Given the description of an element on the screen output the (x, y) to click on. 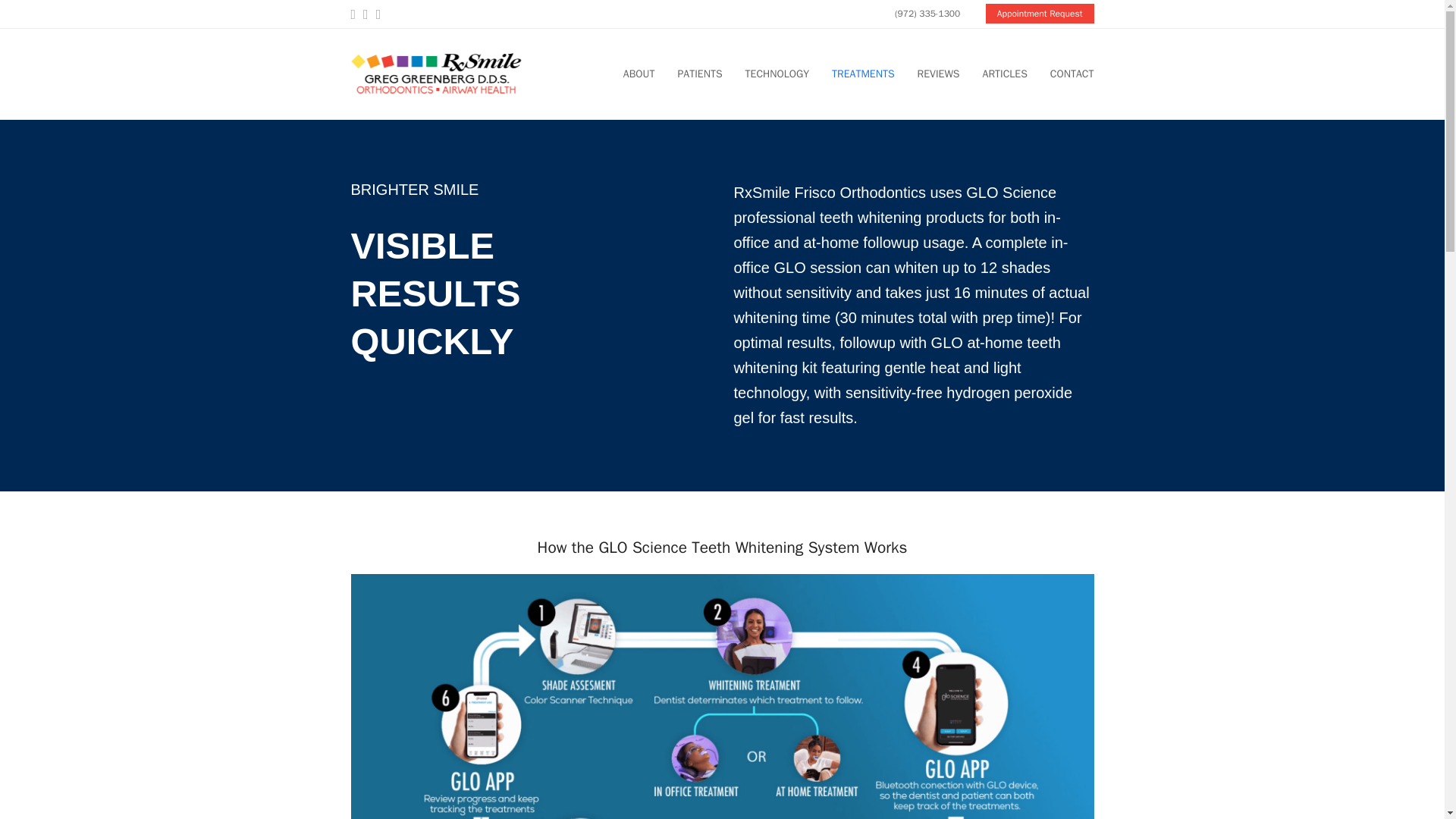
PATIENTS (699, 74)
TREATMENTS (863, 74)
Appointment Request (1040, 13)
TECHNOLOGY (777, 74)
REVIEWS (938, 74)
ABOUT (638, 74)
ARTICLES (1005, 74)
CONTACT (1072, 74)
